Given the description of an element on the screen output the (x, y) to click on. 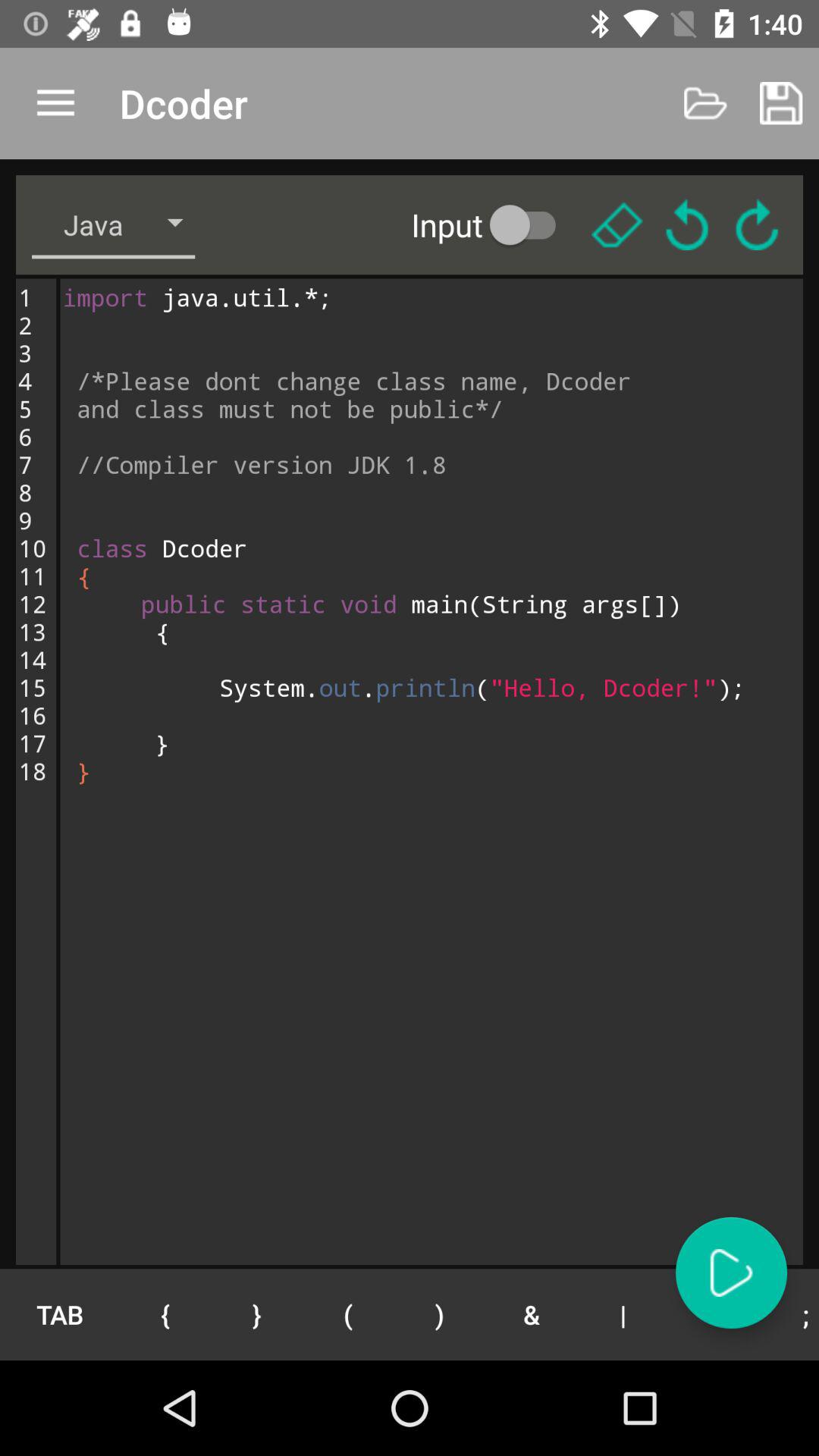
run program (731, 1272)
